Given the description of an element on the screen output the (x, y) to click on. 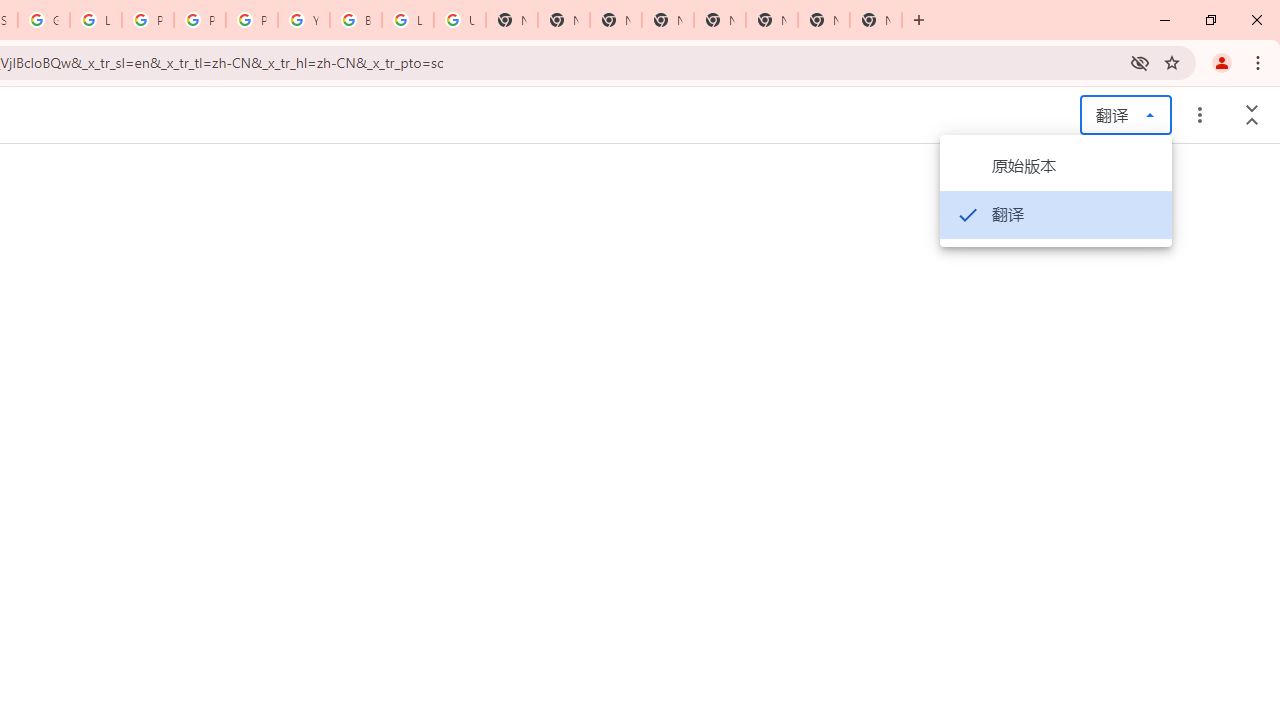
New Tab (616, 20)
New Tab (875, 20)
Privacy Help Center - Policies Help (200, 20)
YouTube (303, 20)
